Given the description of an element on the screen output the (x, y) to click on. 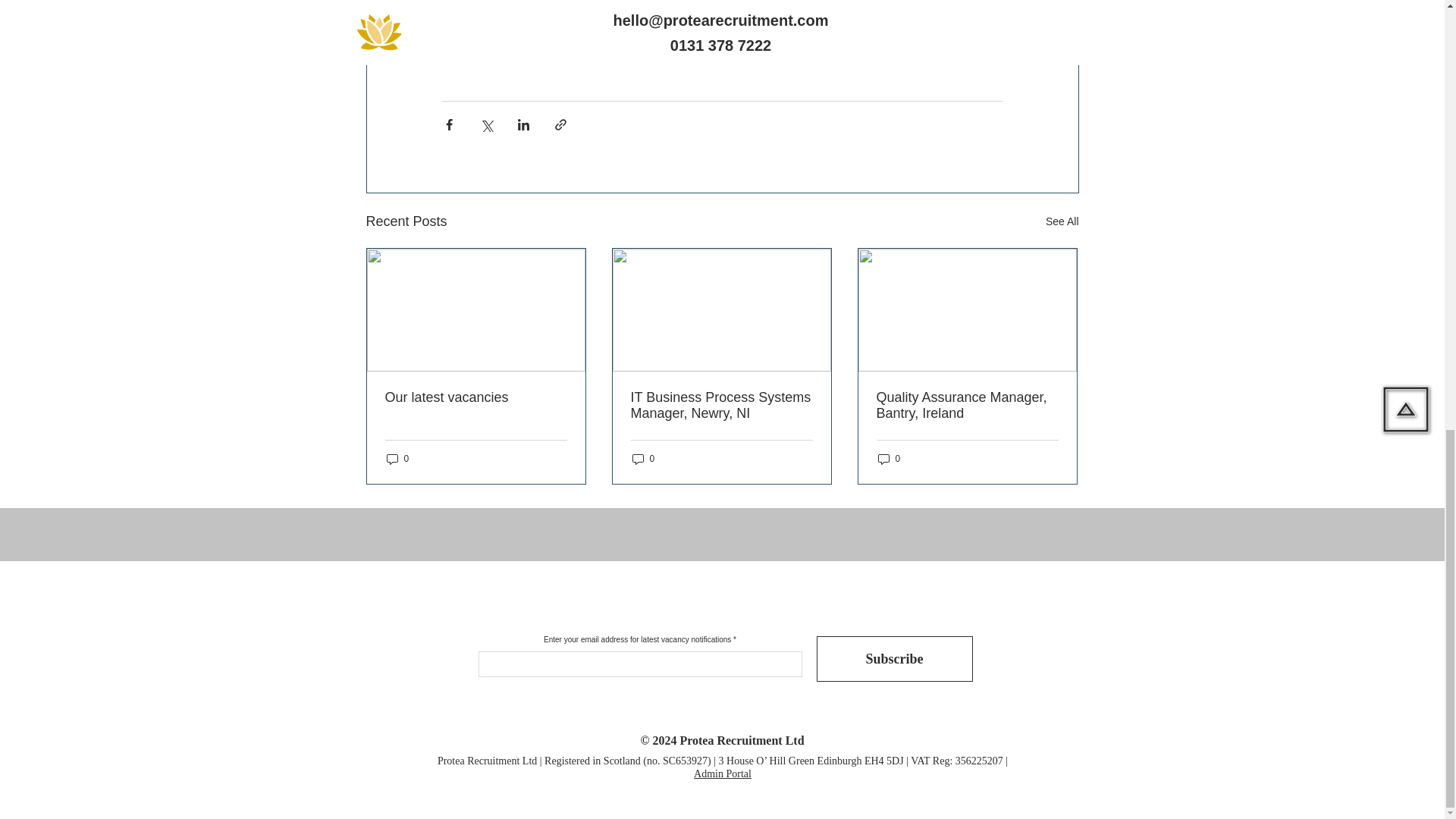
IT Business Process Systems Manager, Newry, NI (721, 405)
Our latest vacancies (476, 397)
0 (397, 459)
0 (889, 459)
See All (1061, 221)
Quality Assurance Manager, Bantry, Ireland (967, 405)
0 (643, 459)
